Given the description of an element on the screen output the (x, y) to click on. 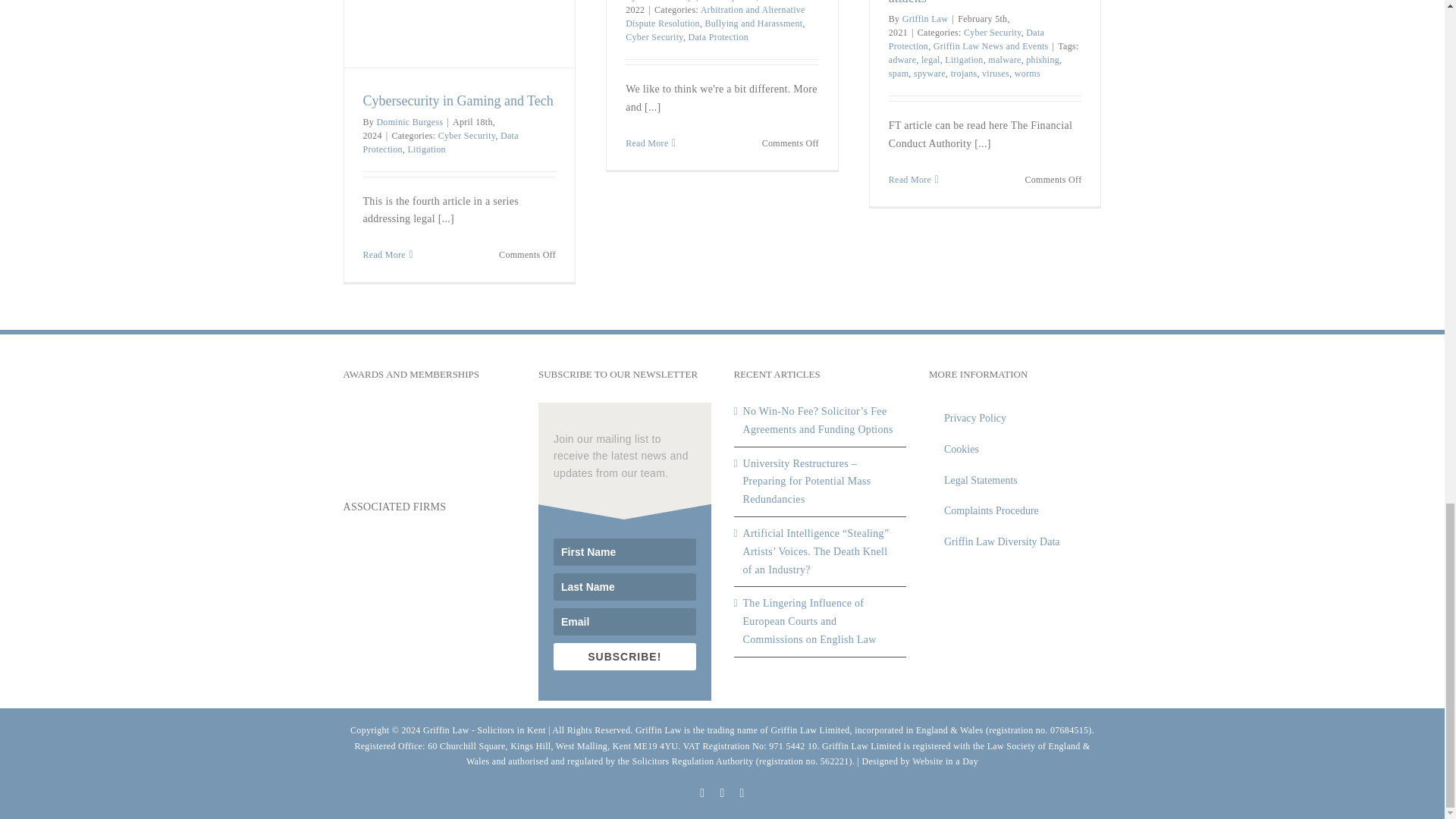
Posts by Donal Blaney (666, 0)
Posts by Dominic Burgess (408, 122)
Posts by Griffin Law (925, 18)
ASSOCIATED FIRMS (428, 555)
